Given the description of an element on the screen output the (x, y) to click on. 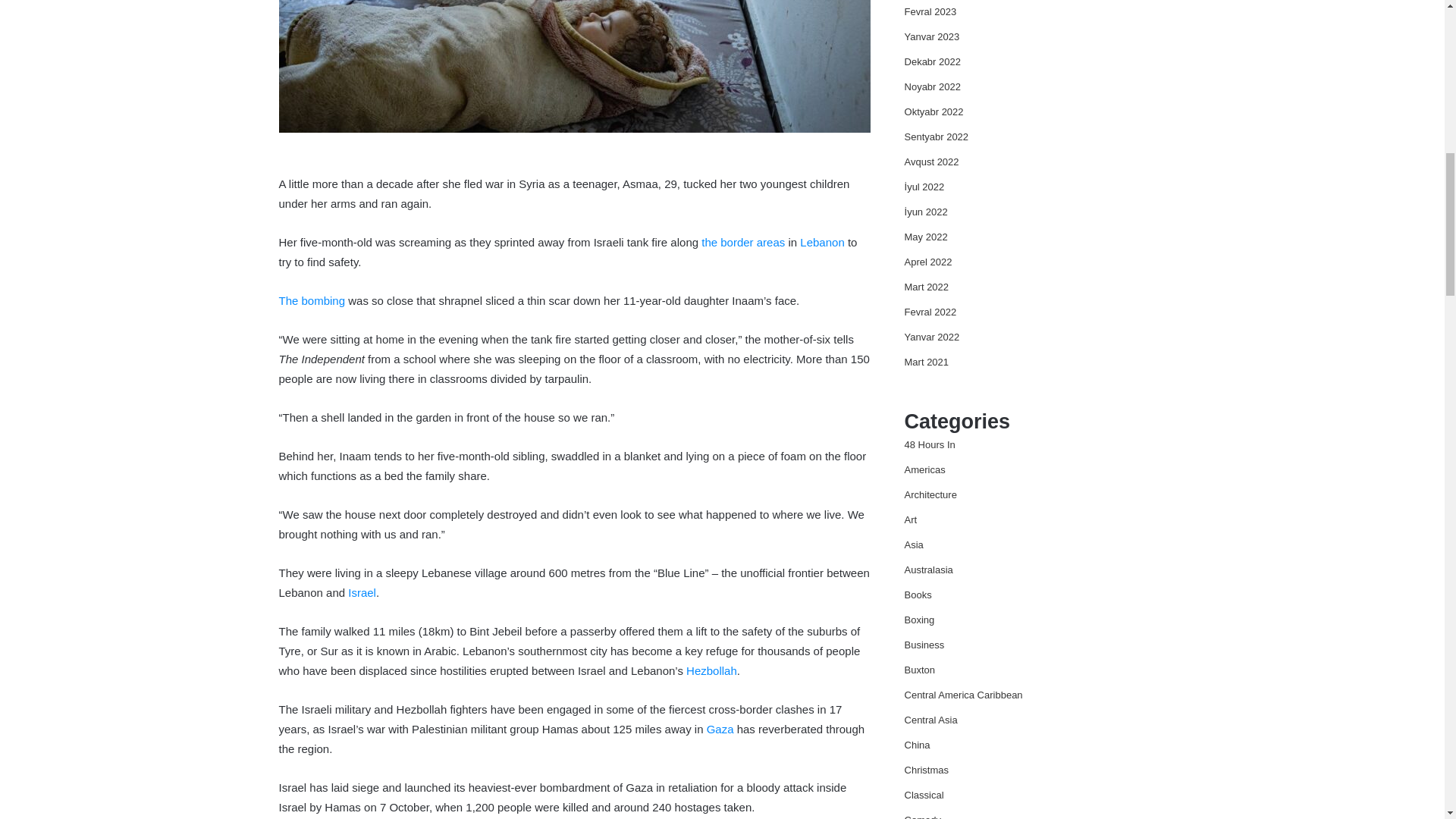
Hezbollah (710, 670)
Gaza (719, 728)
The bombing (312, 300)
the border areas (742, 241)
Lebanon (821, 241)
Israel (361, 592)
